Given the description of an element on the screen output the (x, y) to click on. 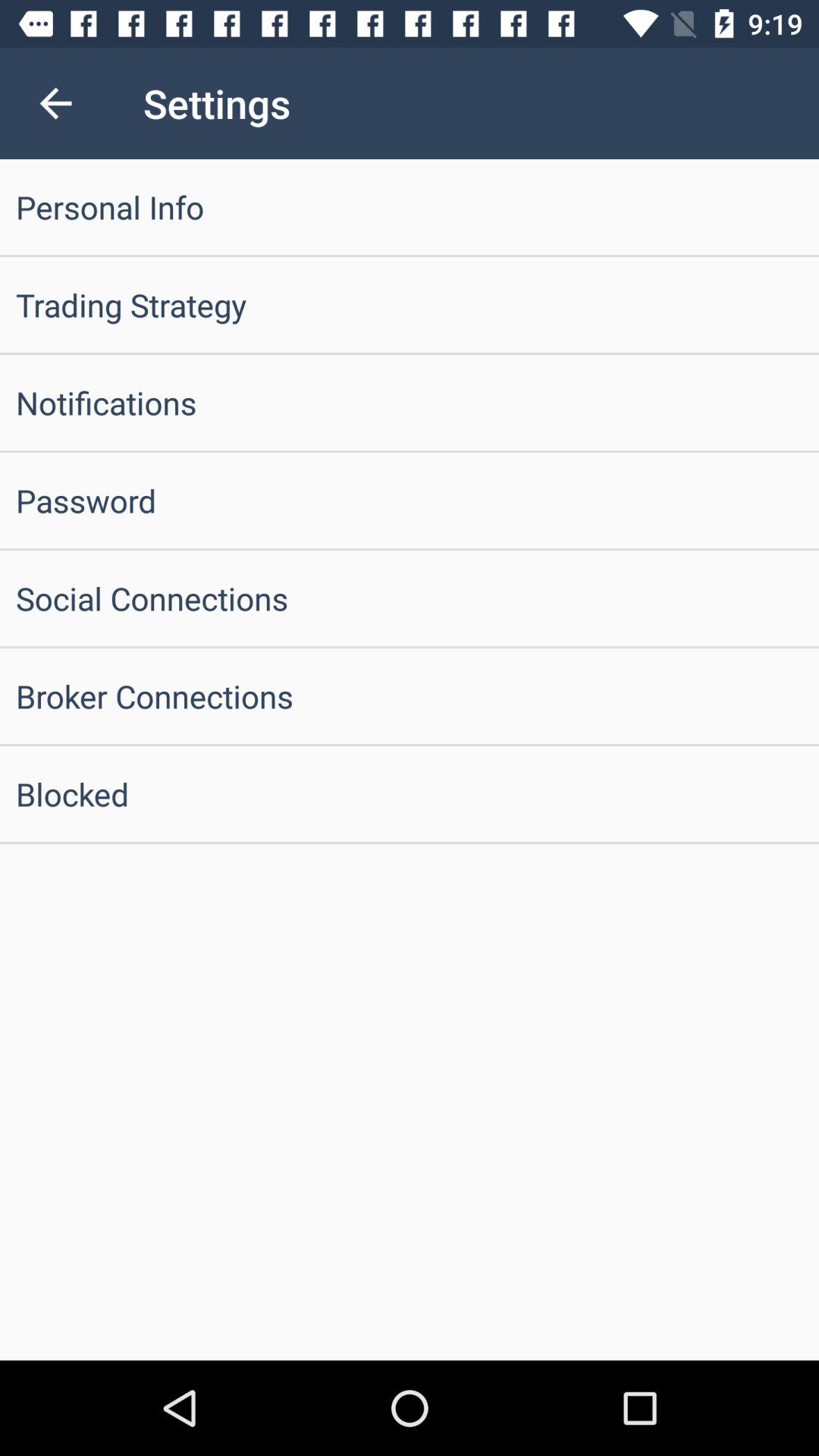
click password icon (409, 500)
